Given the description of an element on the screen output the (x, y) to click on. 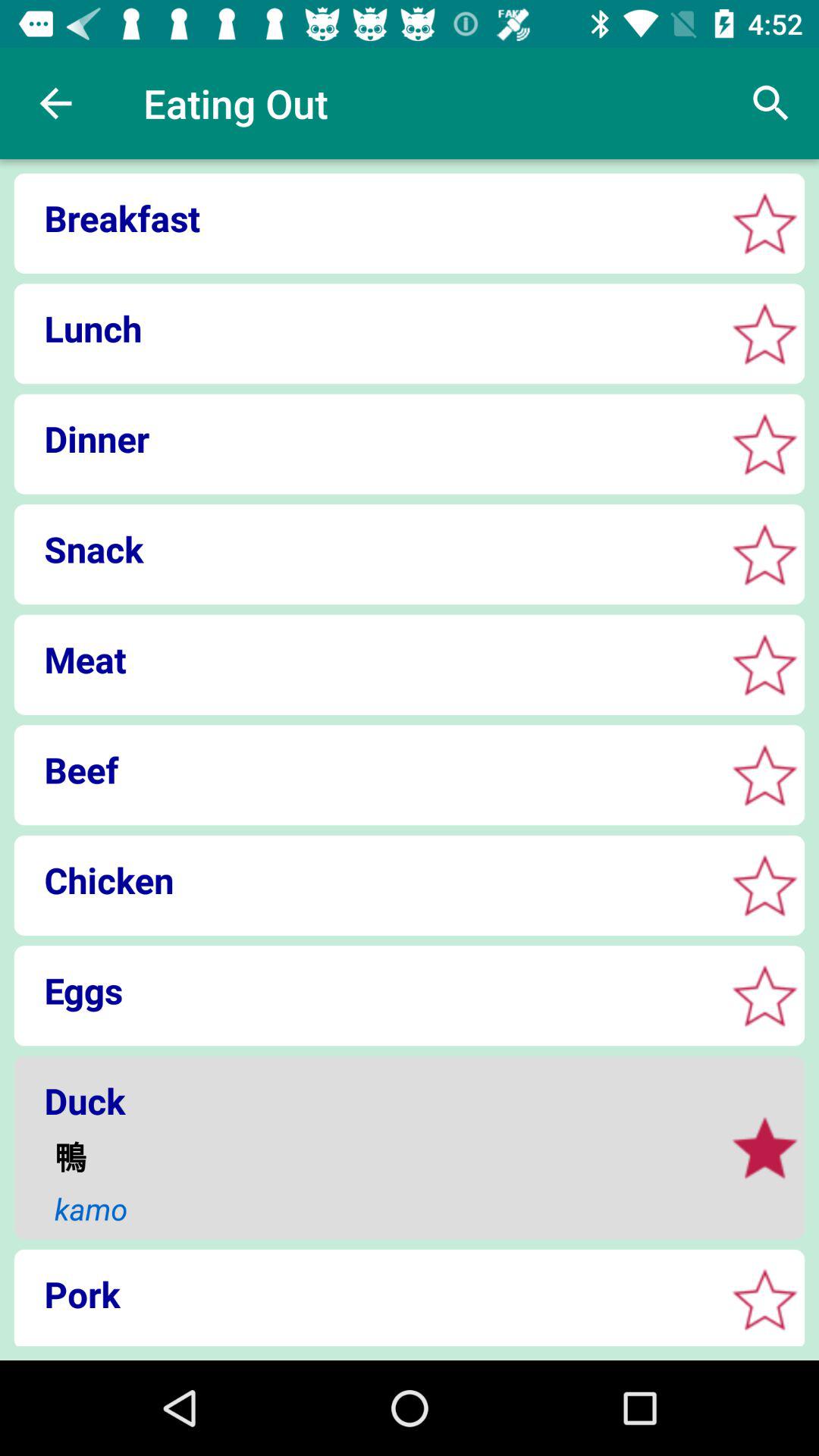
click the icon above beef (364, 659)
